Given the description of an element on the screen output the (x, y) to click on. 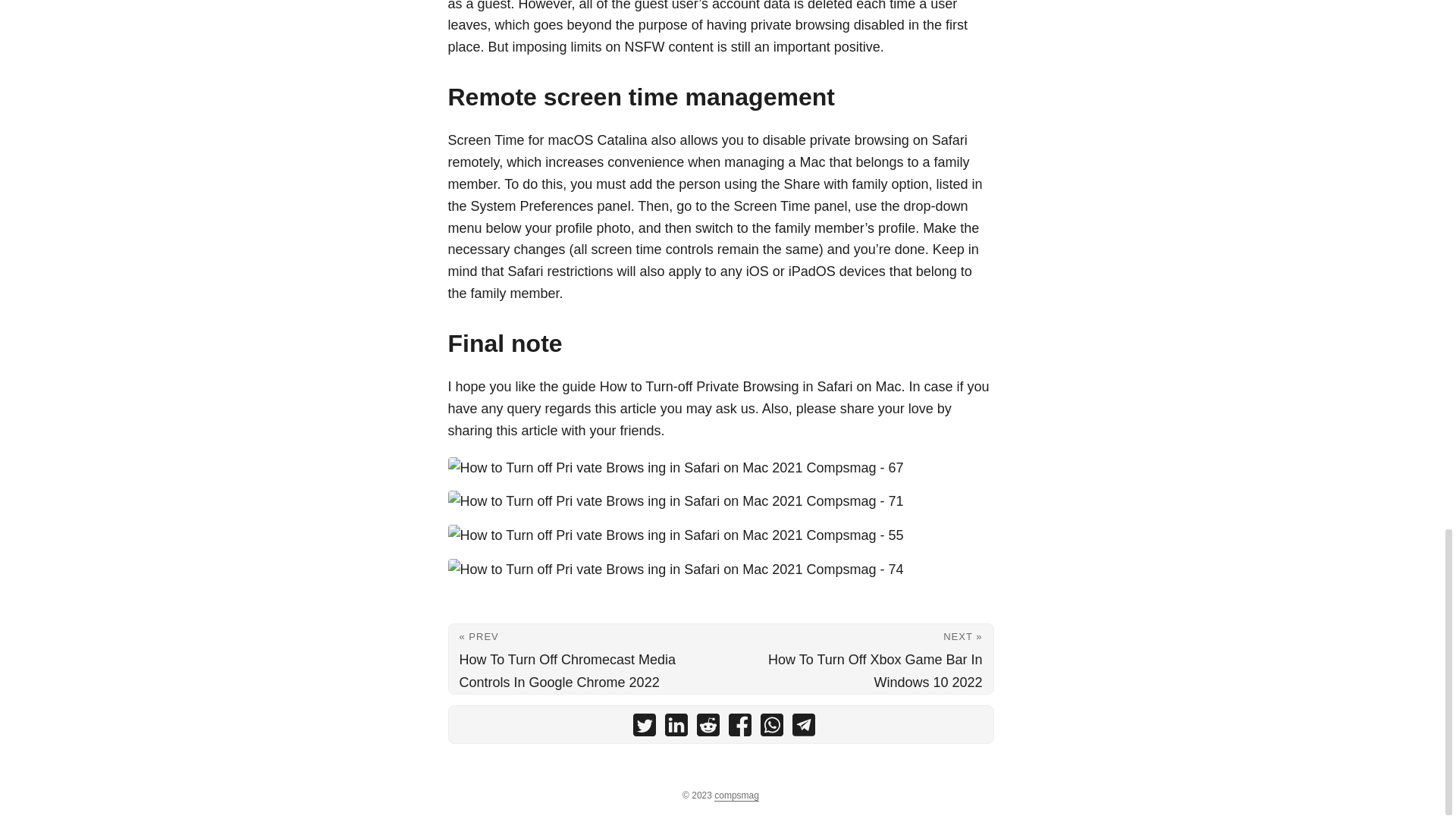
compsmag (736, 795)
